Given the description of an element on the screen output the (x, y) to click on. 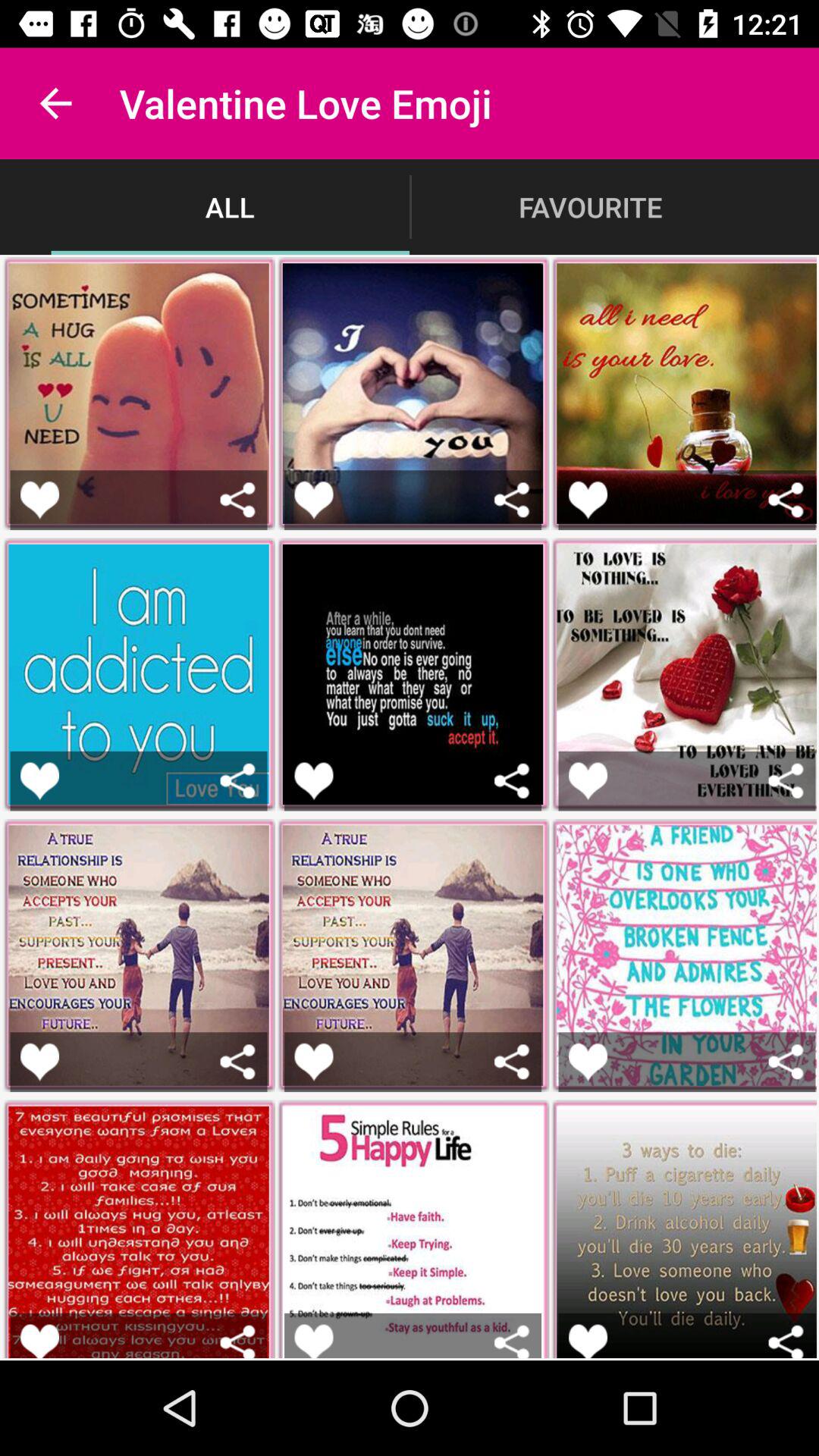
share (511, 1061)
